Given the description of an element on the screen output the (x, y) to click on. 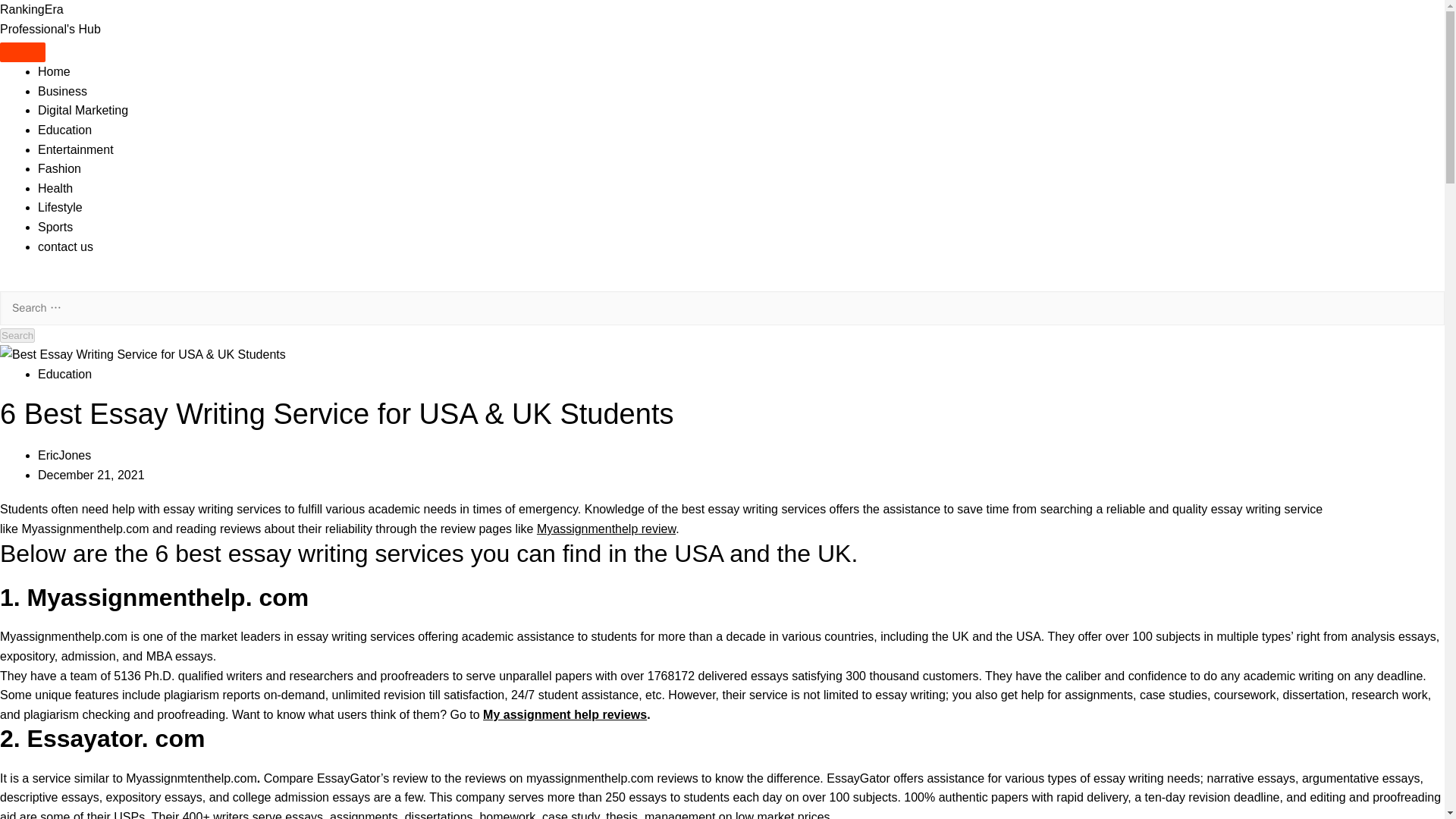
Fashion (59, 168)
Health (54, 187)
Sports (54, 226)
Digital Marketing (82, 110)
My assignment help reviews (564, 714)
Education (64, 373)
Search (17, 335)
Search (17, 335)
Entertainment (75, 149)
Home (53, 71)
Search (17, 335)
contact us (65, 246)
Myassignmenthelp review (606, 528)
EricJones (63, 454)
Education (64, 129)
